Given the description of an element on the screen output the (x, y) to click on. 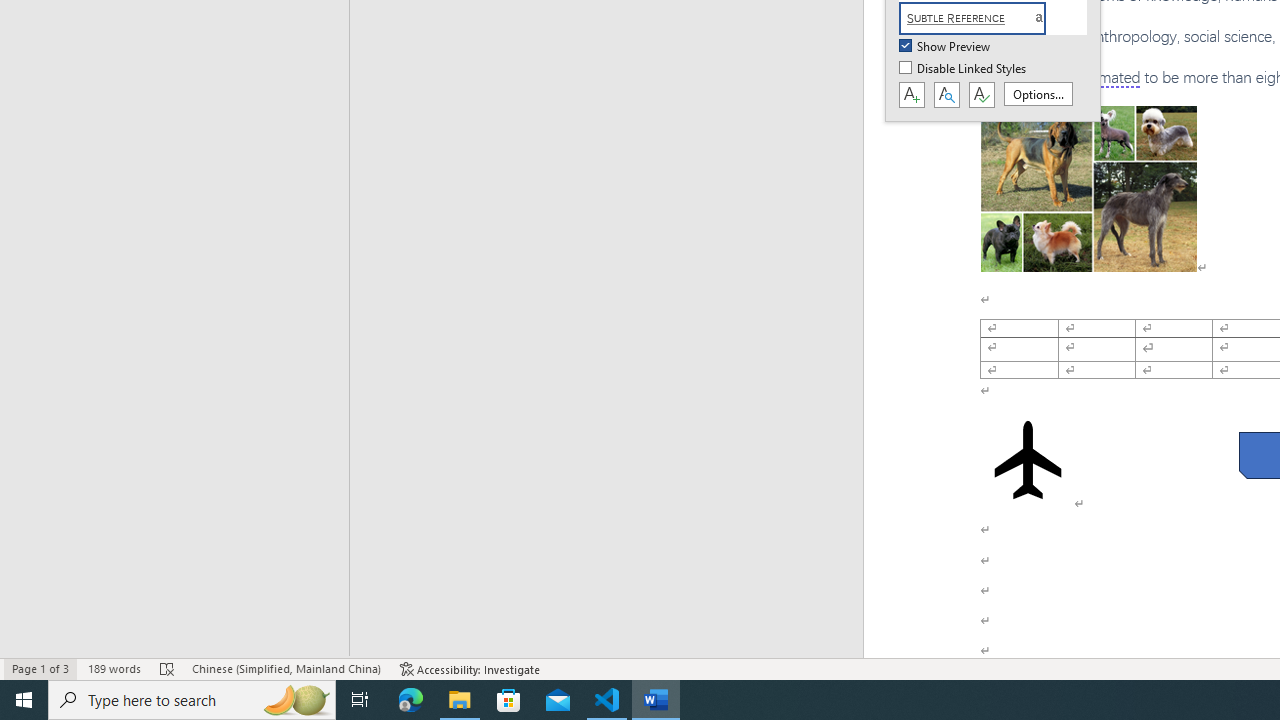
Options... (1037, 93)
Show Preview (946, 47)
Disable Linked Styles (964, 69)
Class: NetUIButton (981, 95)
Page Number Page 1 of 3 (39, 668)
Accessibility Checker Accessibility: Investigate (470, 668)
Spelling and Grammar Check Errors (168, 668)
Morphological variation in six dogs (1088, 188)
Language Chinese (Simplified, Mainland China) (286, 668)
Airplane with solid fill (1027, 459)
Subtle Reference (984, 18)
